Given the description of an element on the screen output the (x, y) to click on. 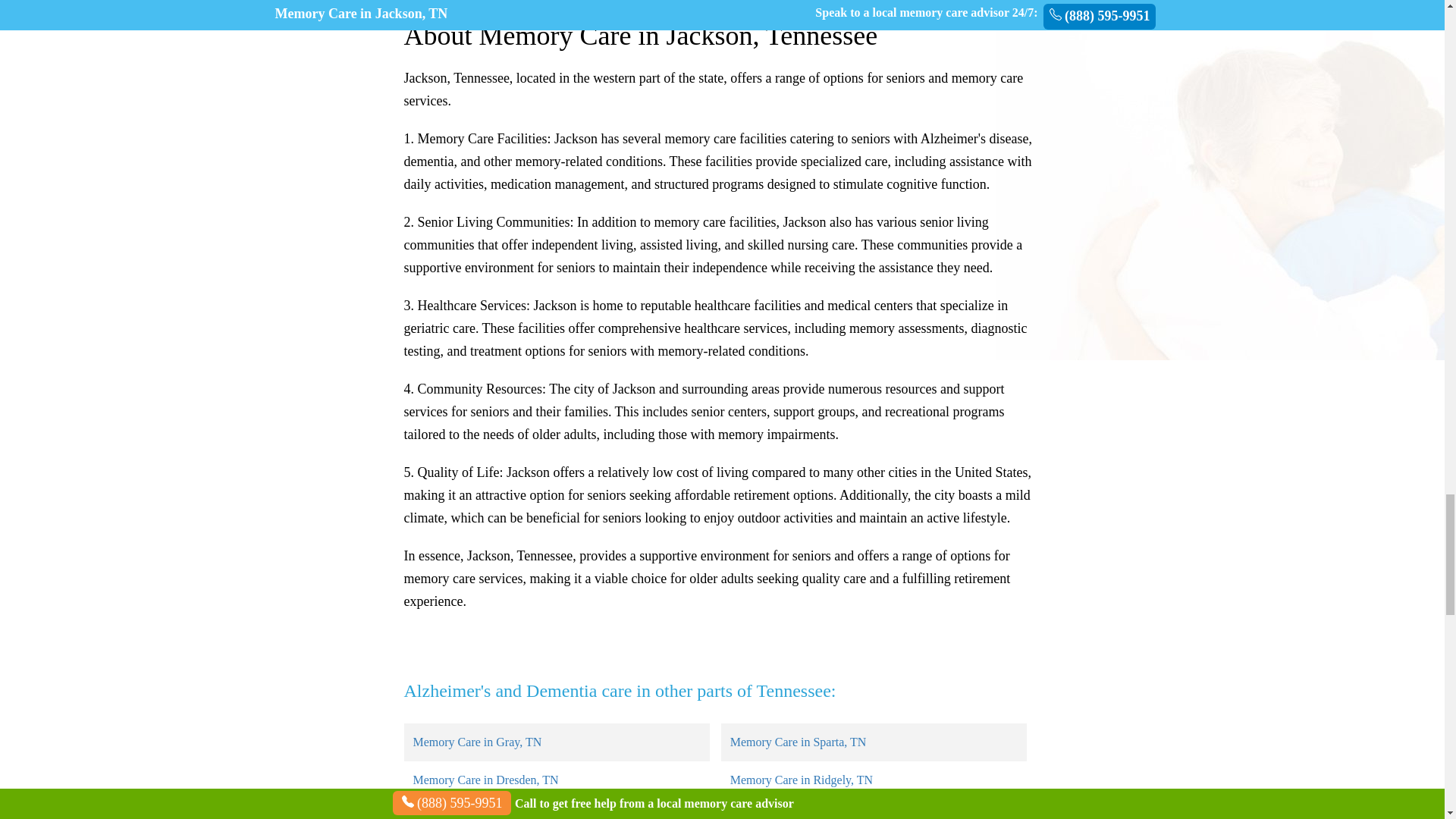
Memory Care in Ridgely, TN (801, 779)
Memory Care in Pulaski, TN (800, 815)
Memory Care in Parsons, TN (484, 815)
Memory Care in Gray, TN (476, 741)
Memory Care in Sparta, TN (798, 741)
Memory Care in Dresden, TN (484, 779)
